Given the description of an element on the screen output the (x, y) to click on. 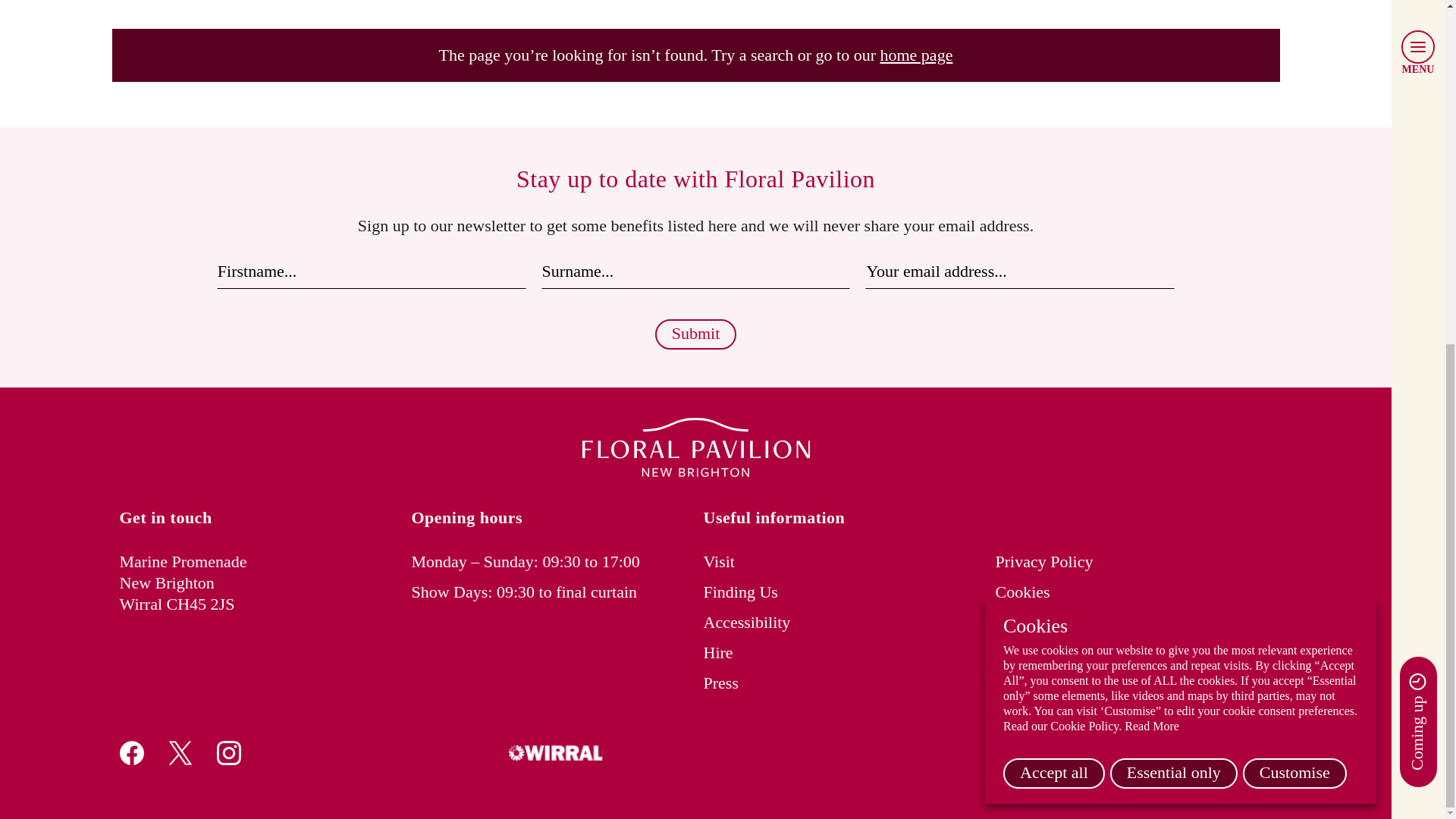
Submit (695, 334)
